Given the description of an element on the screen output the (x, y) to click on. 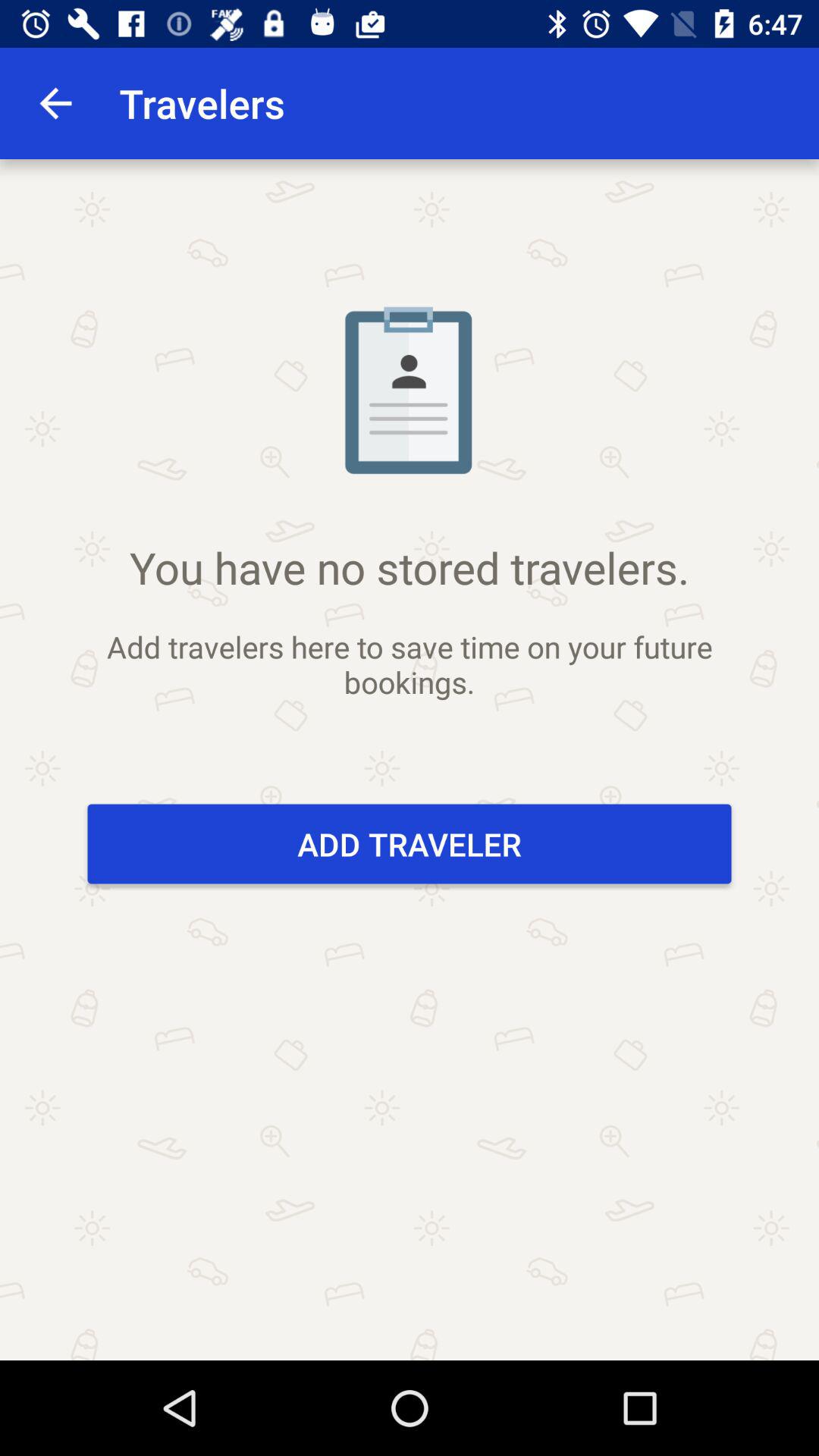
select item above the you have no item (55, 103)
